Given the description of an element on the screen output the (x, y) to click on. 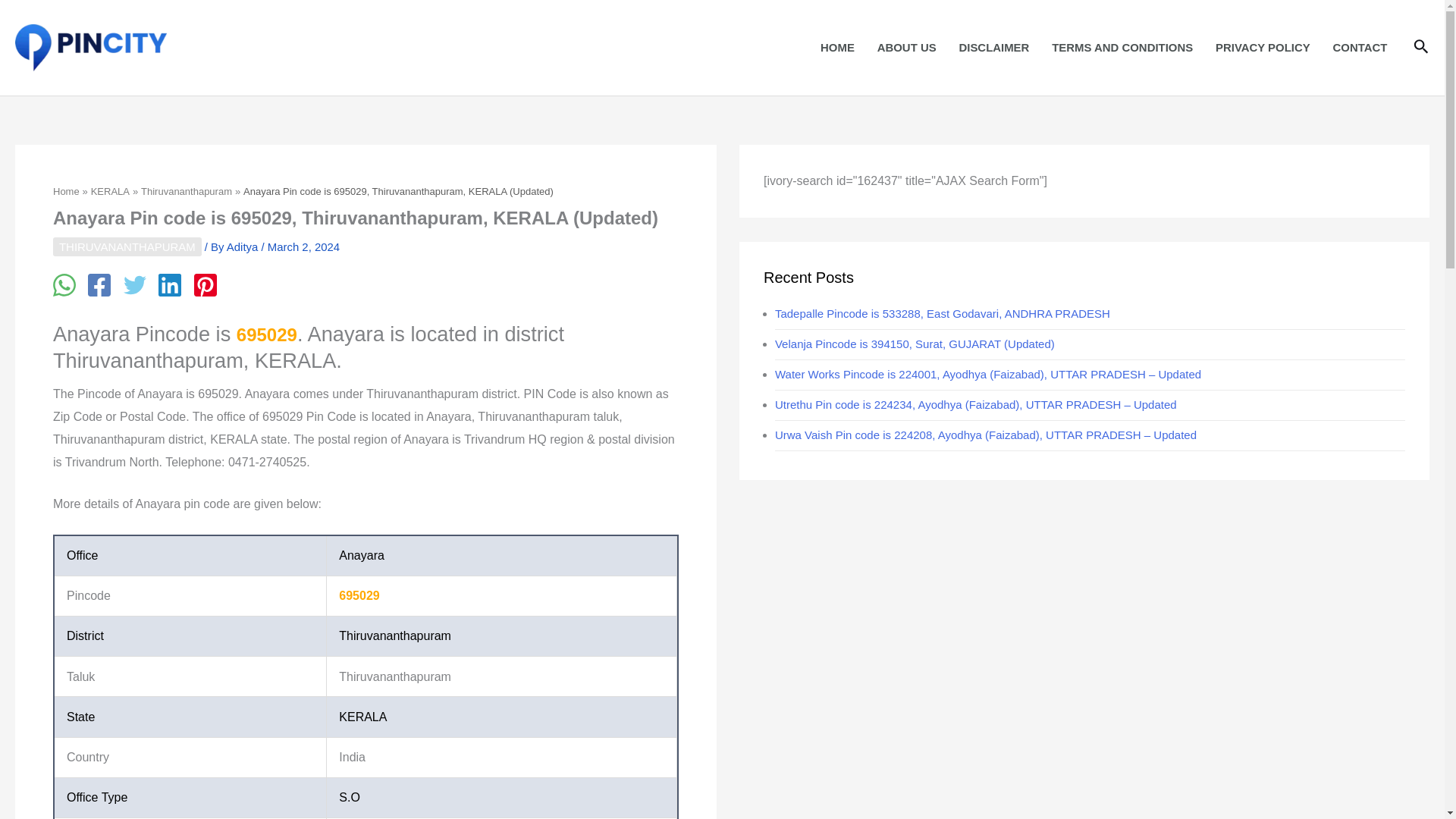
Home (66, 191)
CONTACT (1360, 47)
THIRUVANANTHAPURAM (127, 246)
Aditya (244, 246)
DISCLAIMER (994, 47)
Thiruvananthapuram (186, 191)
PRIVACY POLICY (1263, 47)
TERMS AND CONDITIONS (1122, 47)
KERALA (109, 191)
View all posts by Aditya (244, 246)
